Given the description of an element on the screen output the (x, y) to click on. 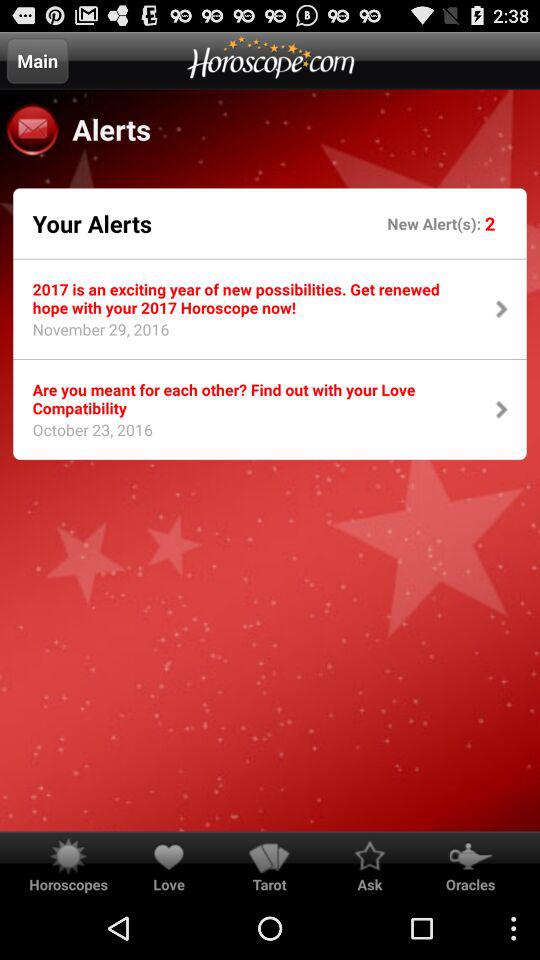
choose november 29, 2016 app (94, 335)
